Given the description of an element on the screen output the (x, y) to click on. 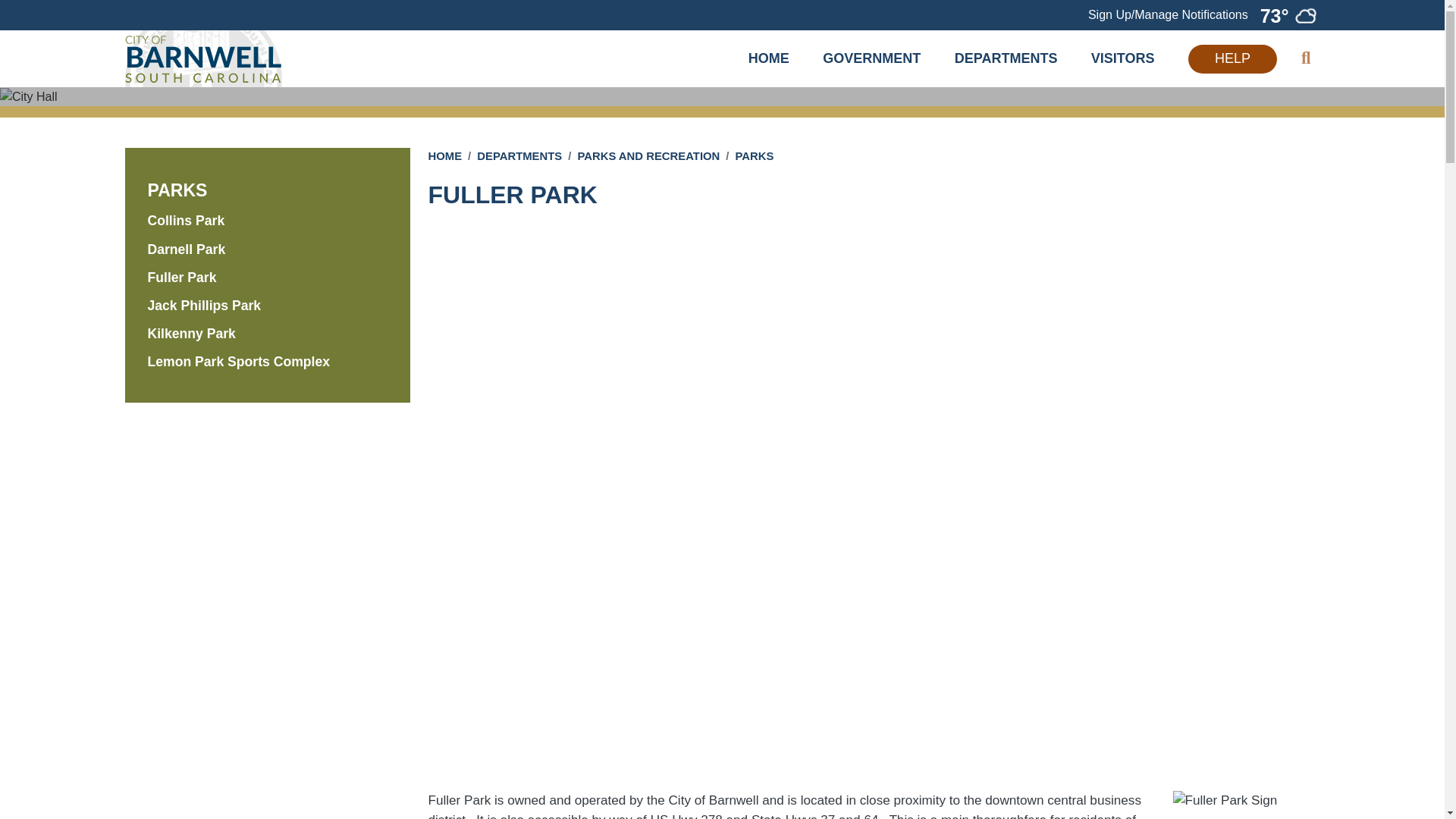
Home (202, 58)
GOVERNMENT (871, 58)
Jack Phillips Park (176, 191)
